Given the description of an element on the screen output the (x, y) to click on. 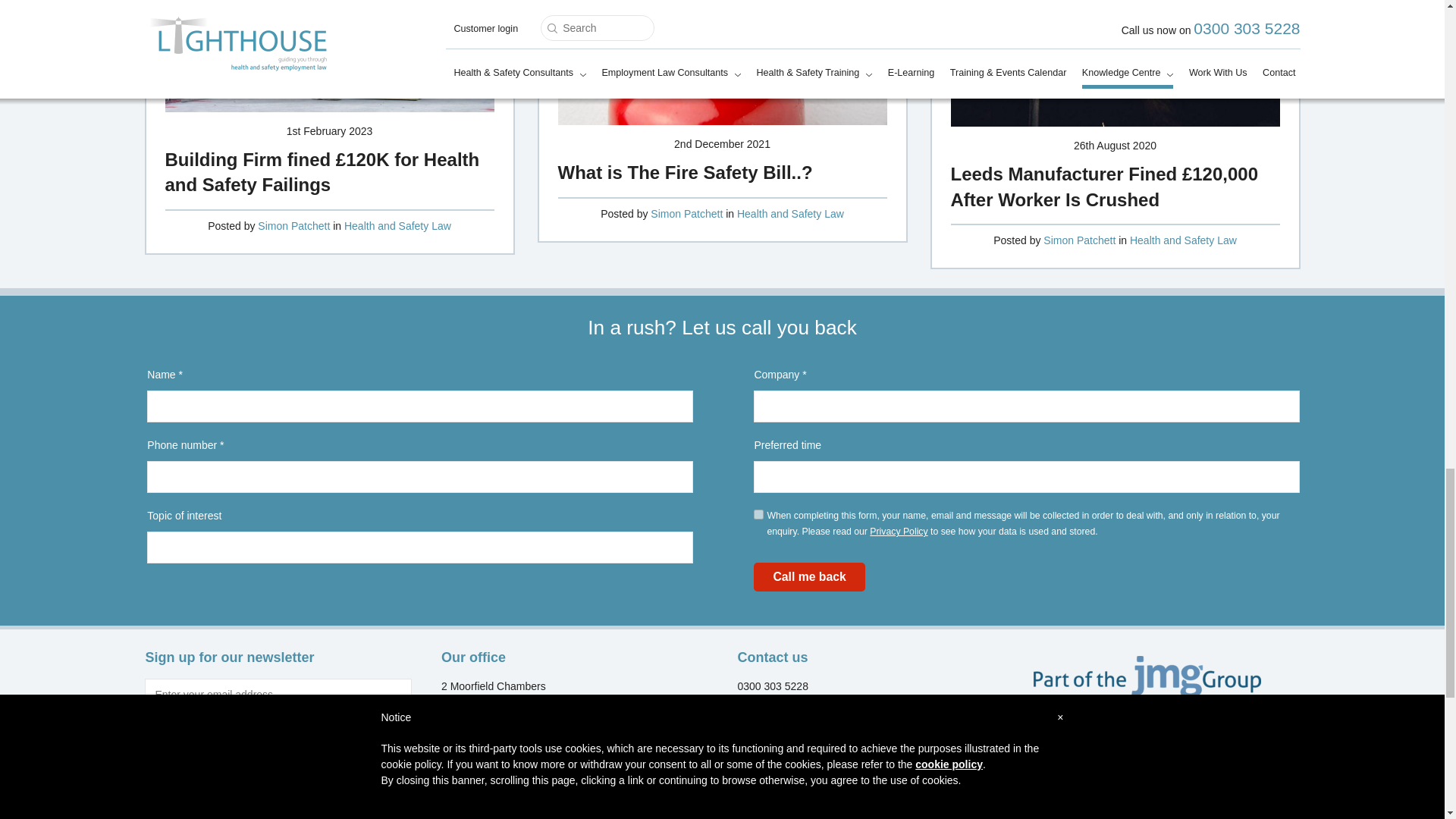
Call me back (809, 576)
451462 (251, 742)
1 (758, 514)
451461 (149, 742)
